Given the description of an element on the screen output the (x, y) to click on. 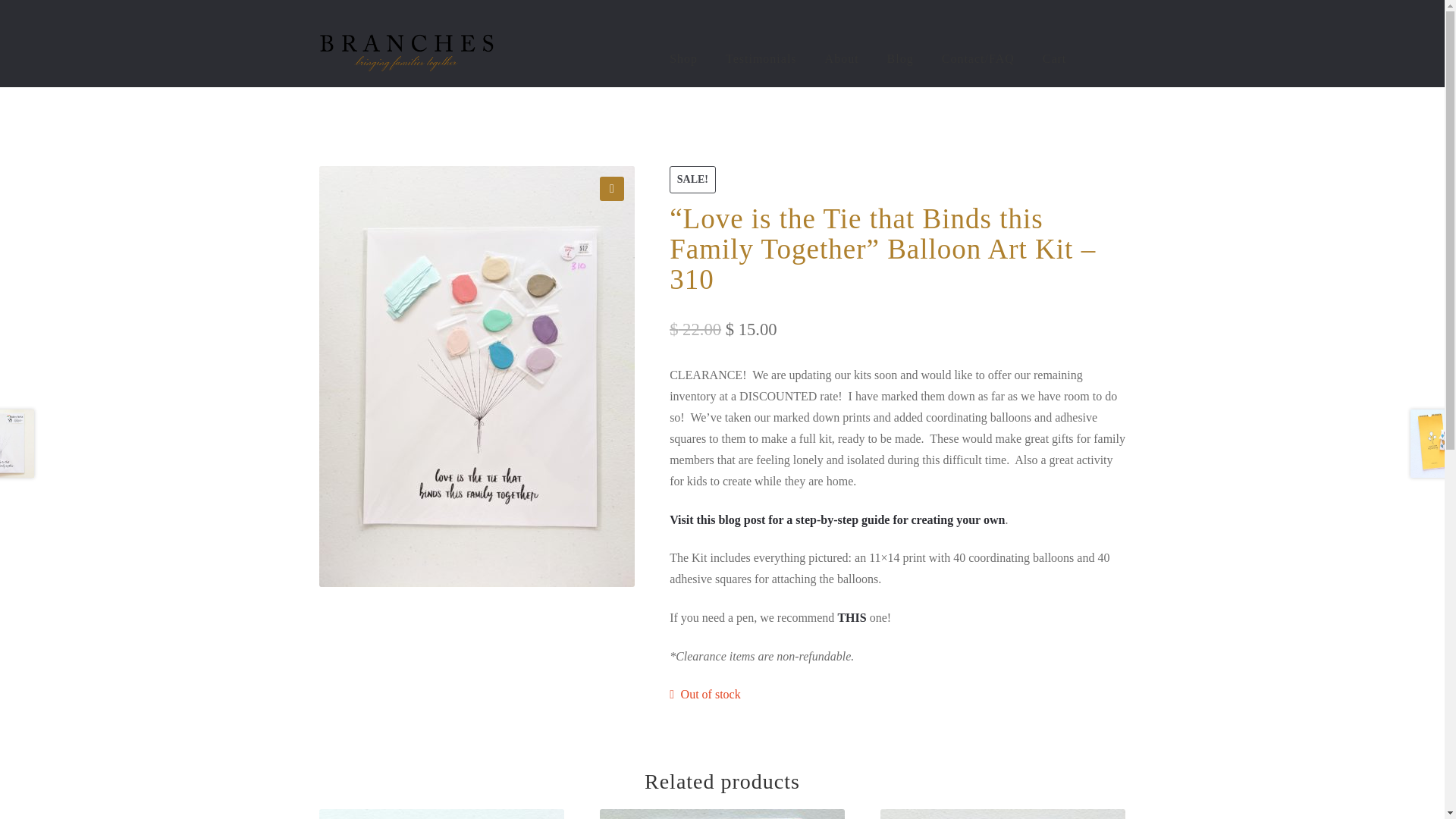
Cart (1054, 58)
Blog (900, 58)
About (841, 58)
Testimonials (761, 58)
Shop (684, 58)
THIS (851, 617)
